Given the description of an element on the screen output the (x, y) to click on. 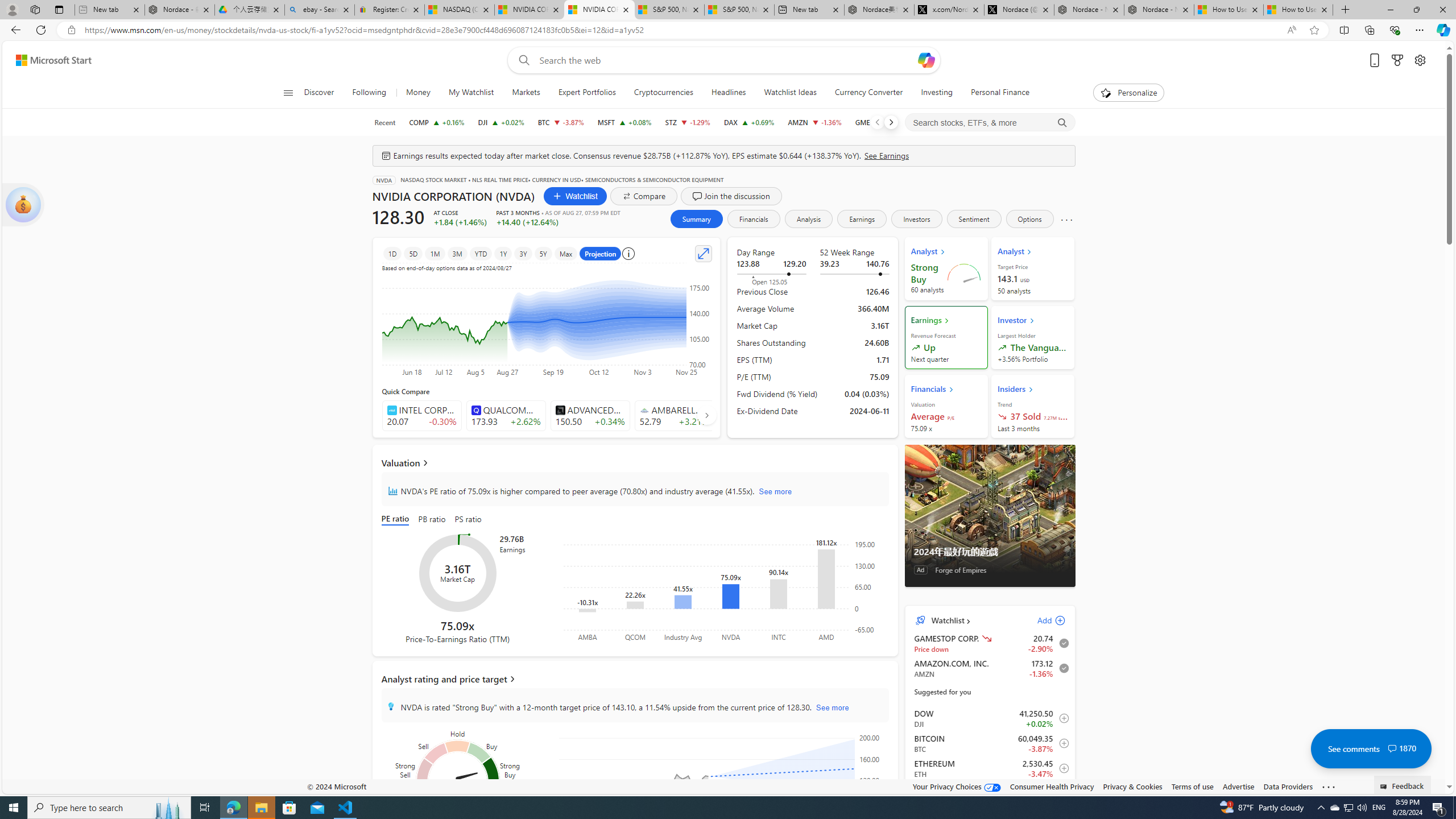
AMZN AMAZON.COM, INC. decrease 173.12 -2.38 -1.36% (814, 122)
Analysis (808, 218)
Data Providers (1288, 786)
Consumer Health Privacy (1051, 786)
S&P 500, Nasdaq end lower, weighed by Nvidia dip | Watch (738, 9)
5Y (542, 253)
Currency Converter (868, 92)
Markets (525, 92)
Headlines (727, 92)
